Given the description of an element on the screen output the (x, y) to click on. 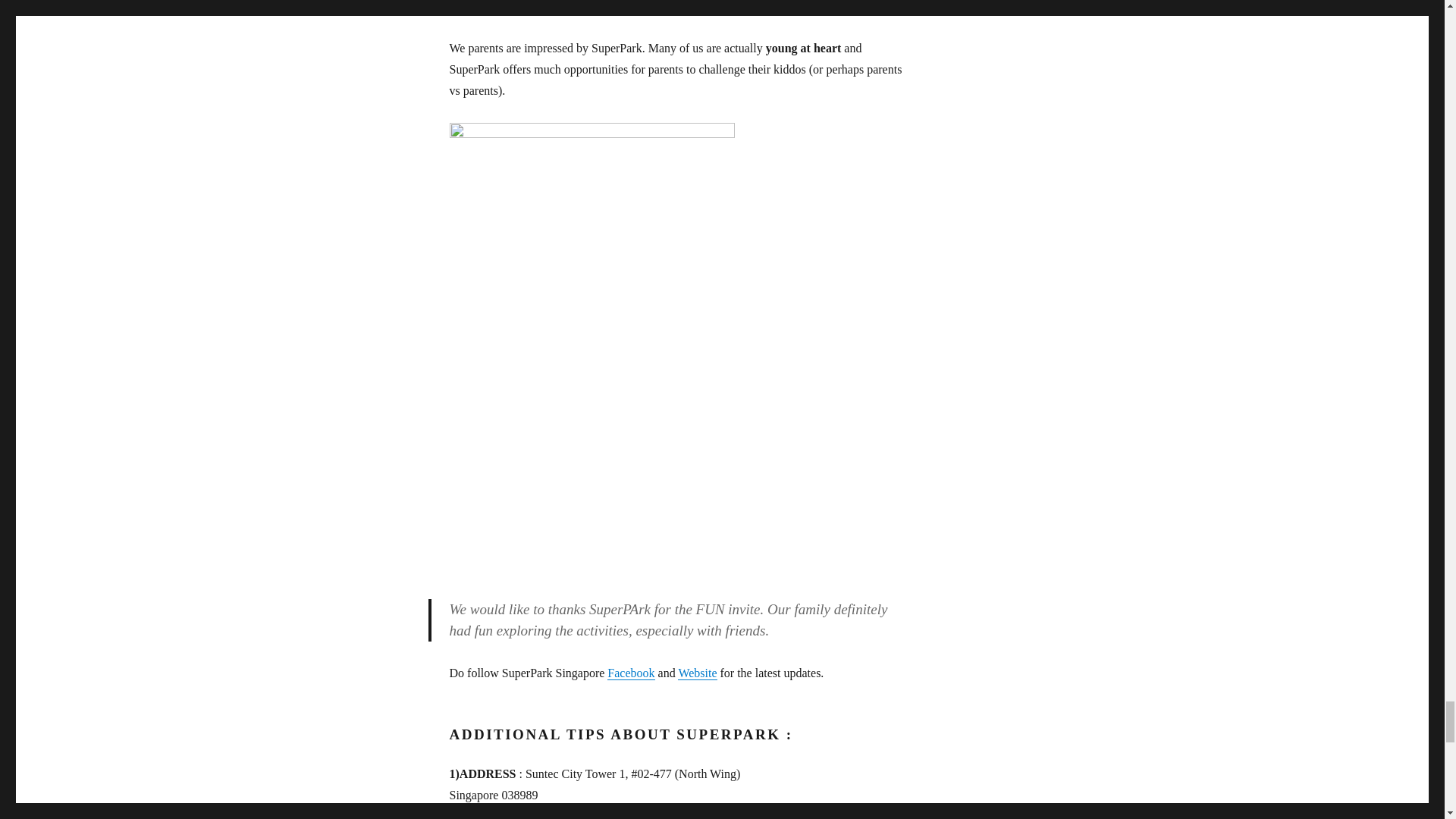
Facebook (630, 672)
Website (697, 672)
